Given the description of an element on the screen output the (x, y) to click on. 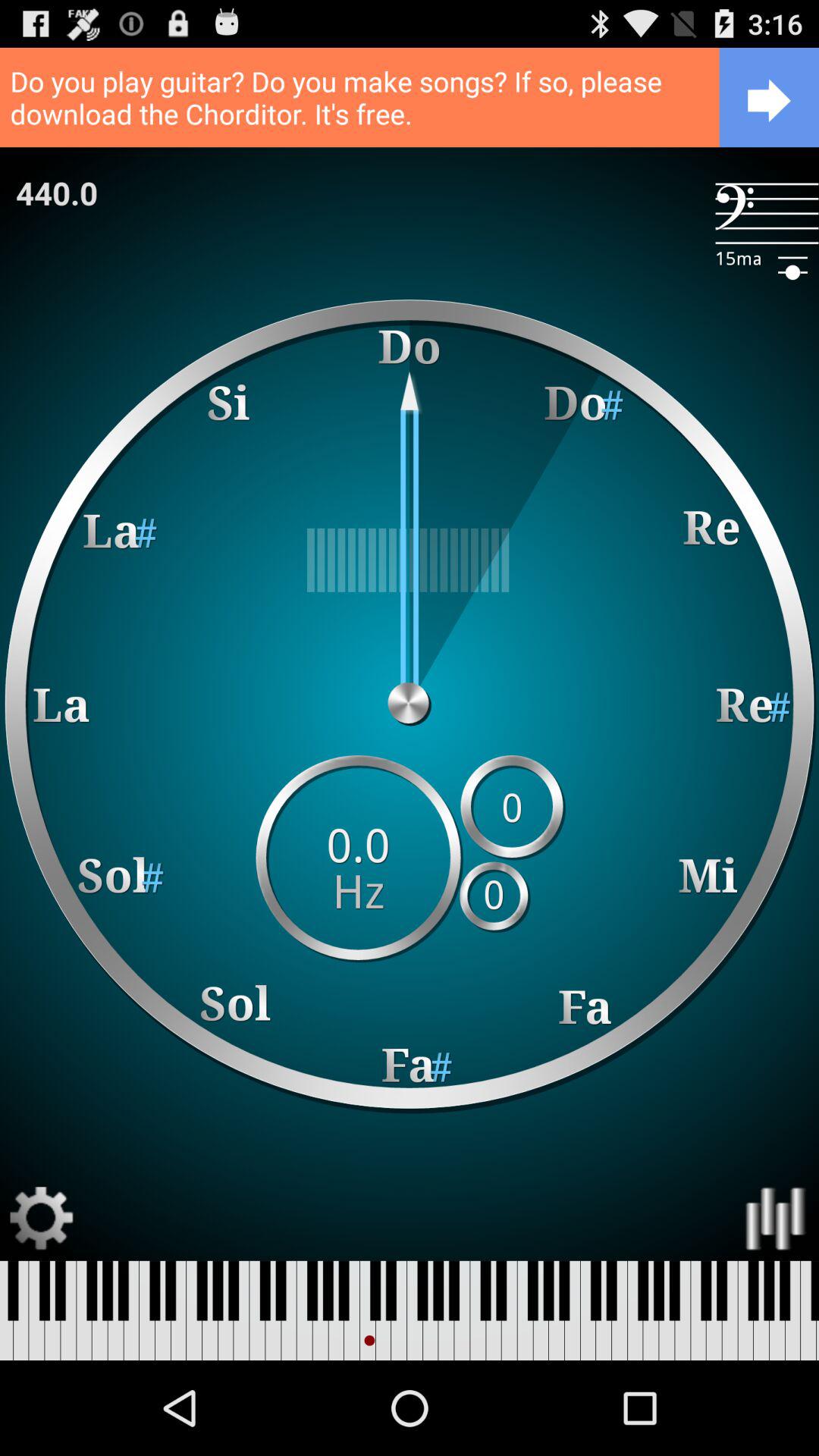
select icon below c a r item (56, 192)
